Given the description of an element on the screen output the (x, y) to click on. 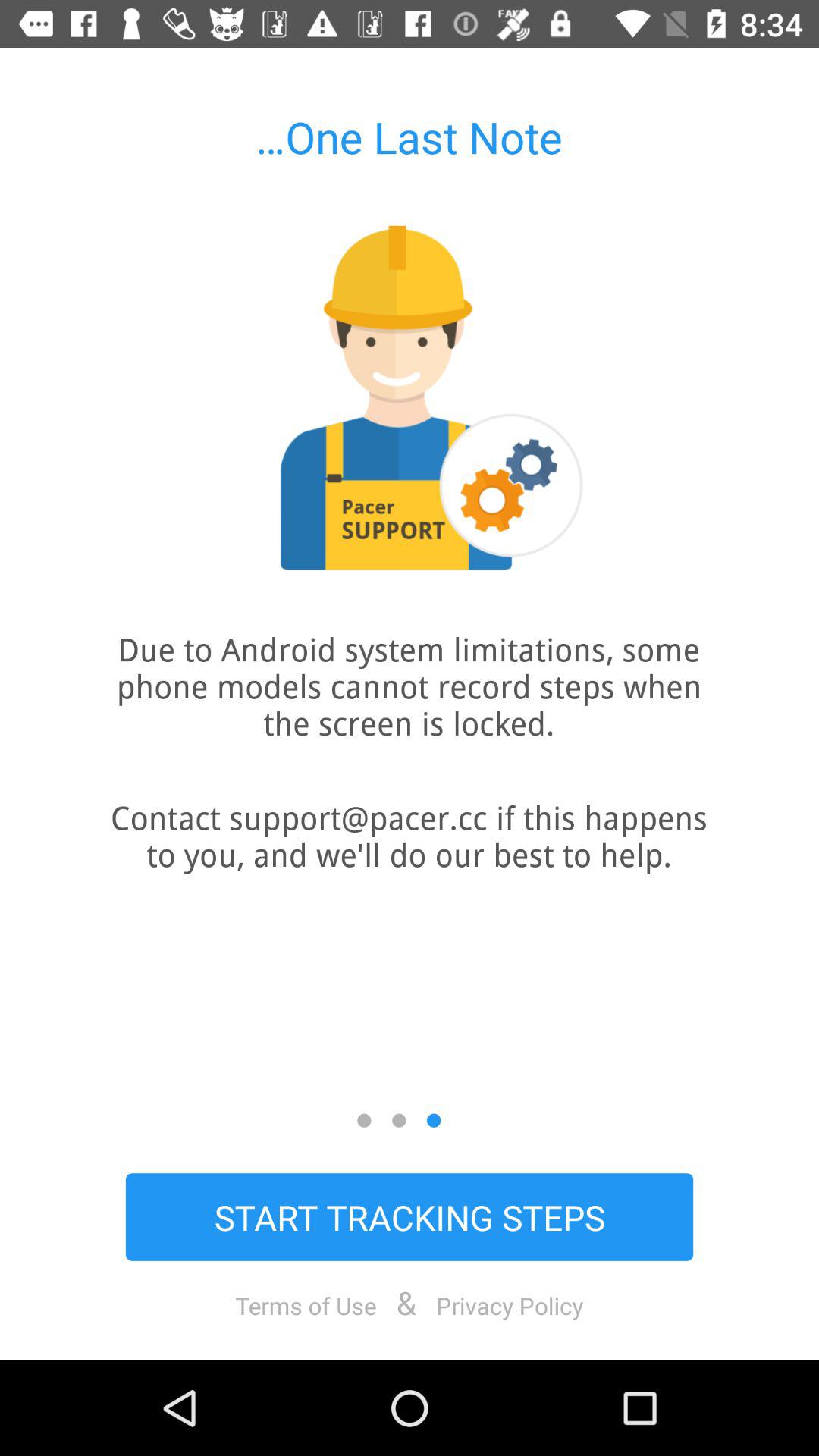
select icon below start tracking steps (509, 1305)
